Given the description of an element on the screen output the (x, y) to click on. 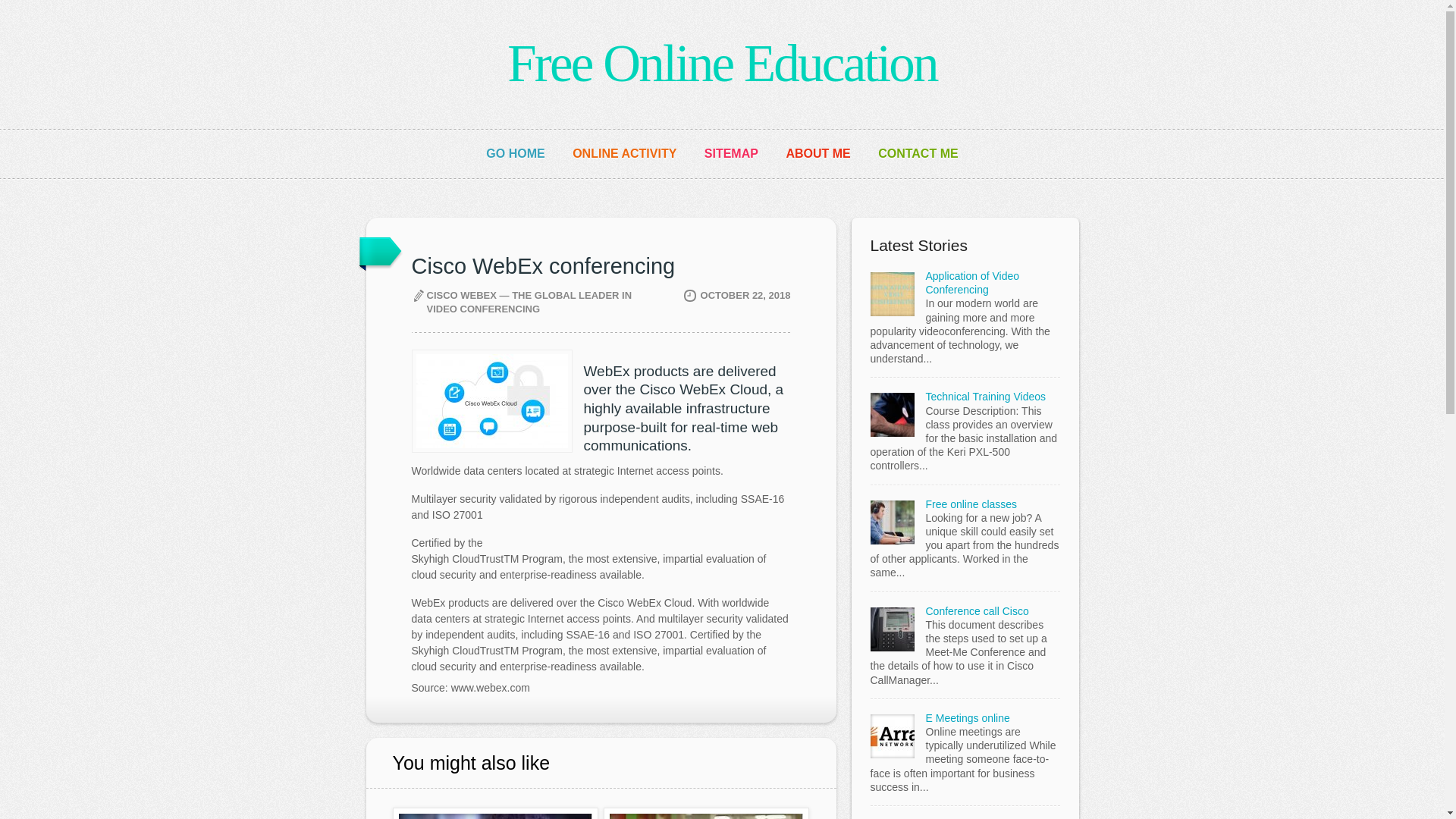
Free online classes (970, 503)
SITEMAP (731, 153)
View this video from YouTube (706, 813)
ONLINE ACTIVITY (624, 153)
E Meetings online (966, 717)
Free Online Education (721, 63)
GO HOME (515, 153)
ABOUT ME (818, 153)
Conference call Cisco (975, 611)
Technical Training Videos (984, 396)
View this video from YouTube (495, 813)
Application of Video Conferencing (971, 282)
CONTACT ME (917, 153)
